Given the description of an element on the screen output the (x, y) to click on. 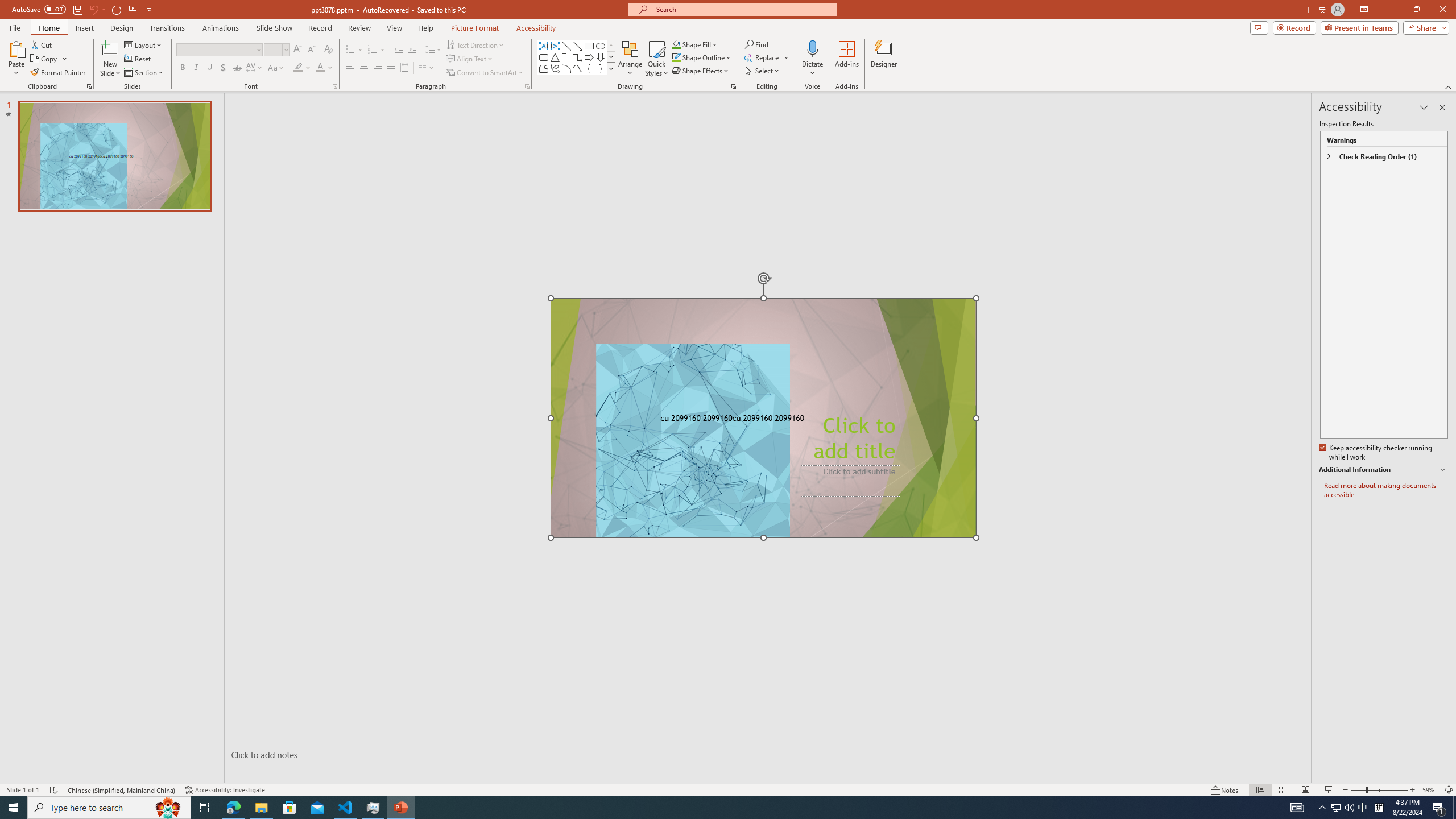
Picture Format (475, 28)
